Given the description of an element on the screen output the (x, y) to click on. 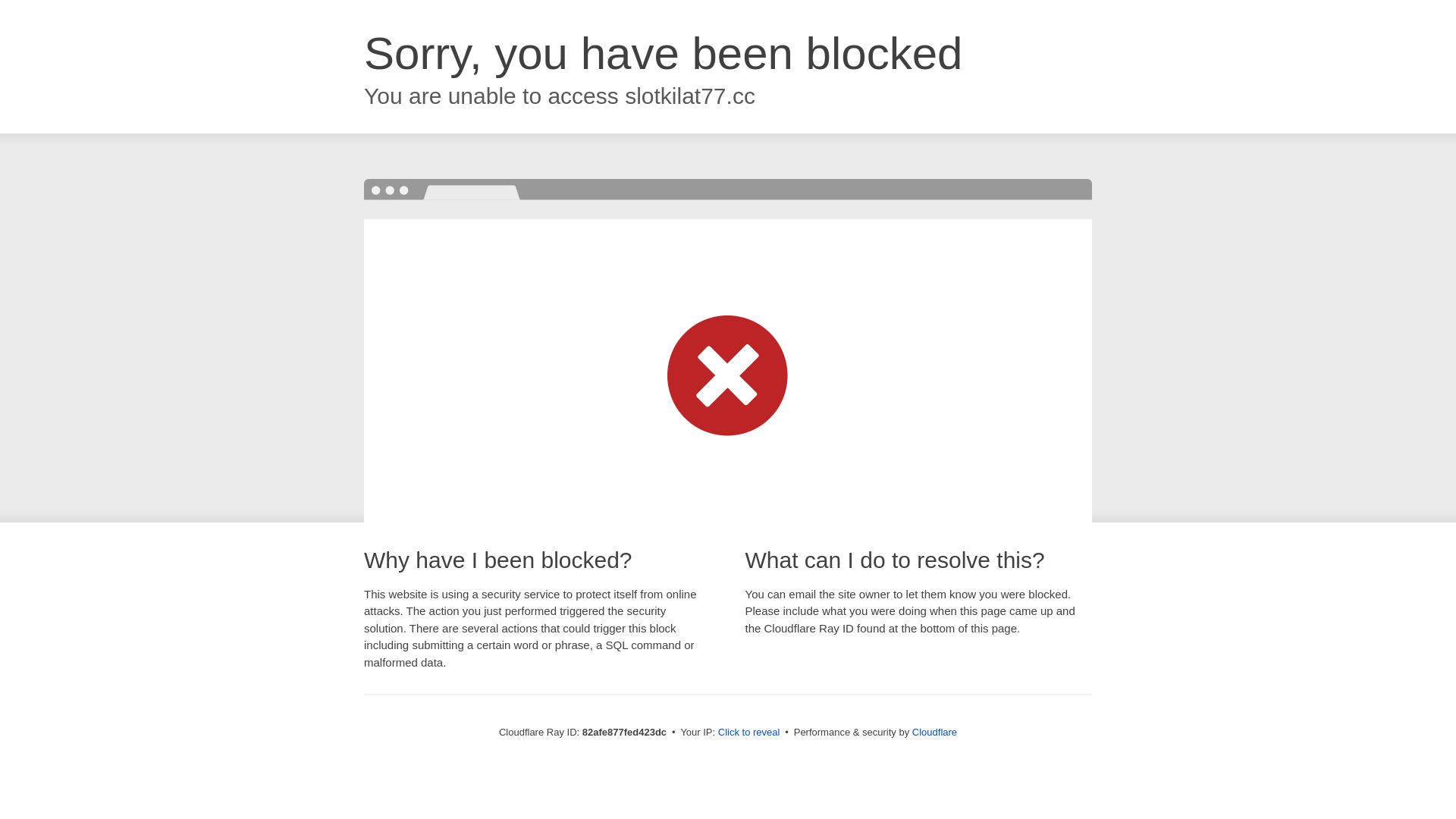
Cloudflare Element type: text (934, 731)
Click to reveal Element type: text (749, 732)
